Given the description of an element on the screen output the (x, y) to click on. 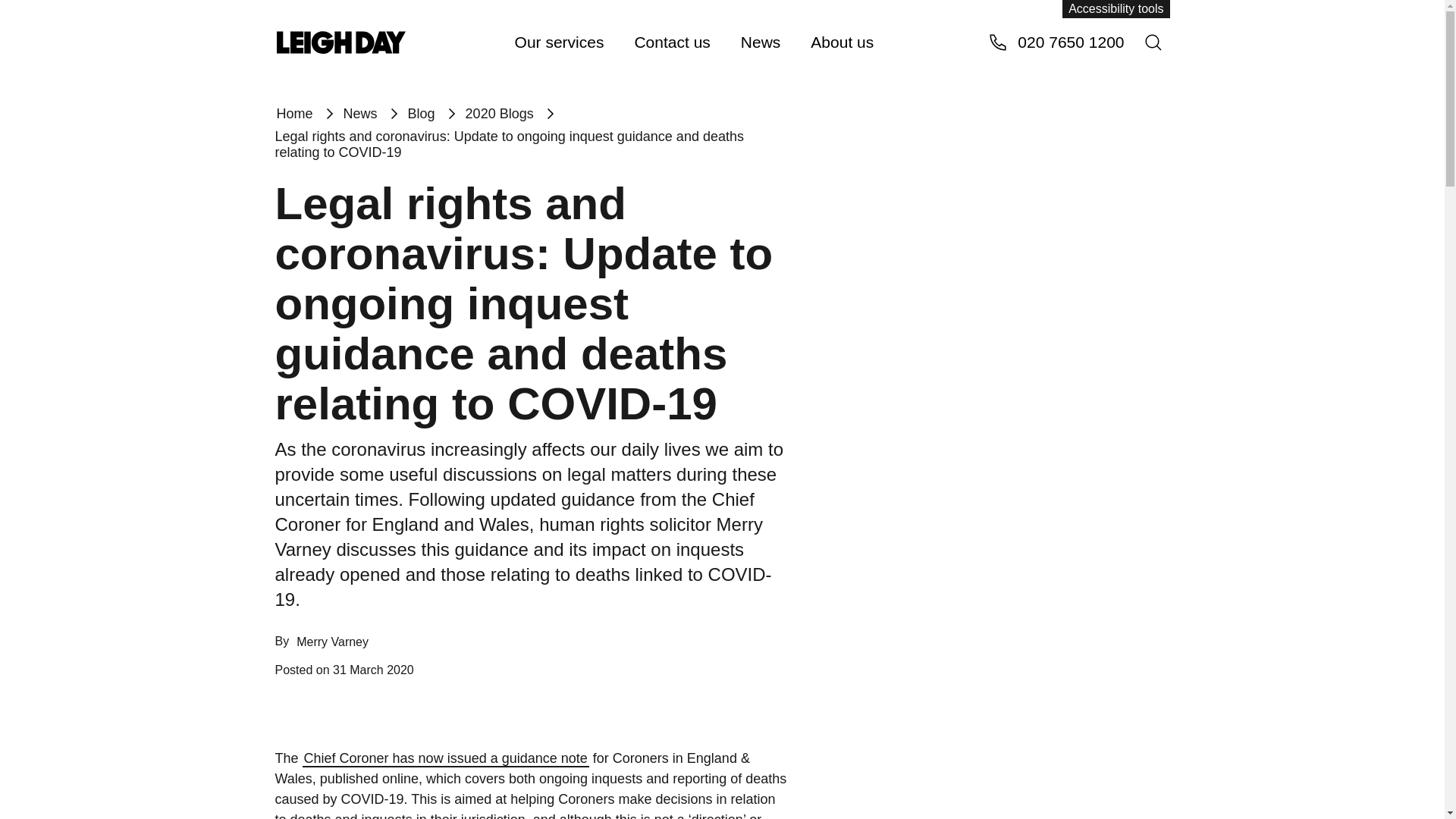
Link to the Chief Coroner Guidance note (445, 759)
Accessibility tools (1115, 9)
Accessibility tools (1115, 9)
Our services (558, 41)
